Given the description of an element on the screen output the (x, y) to click on. 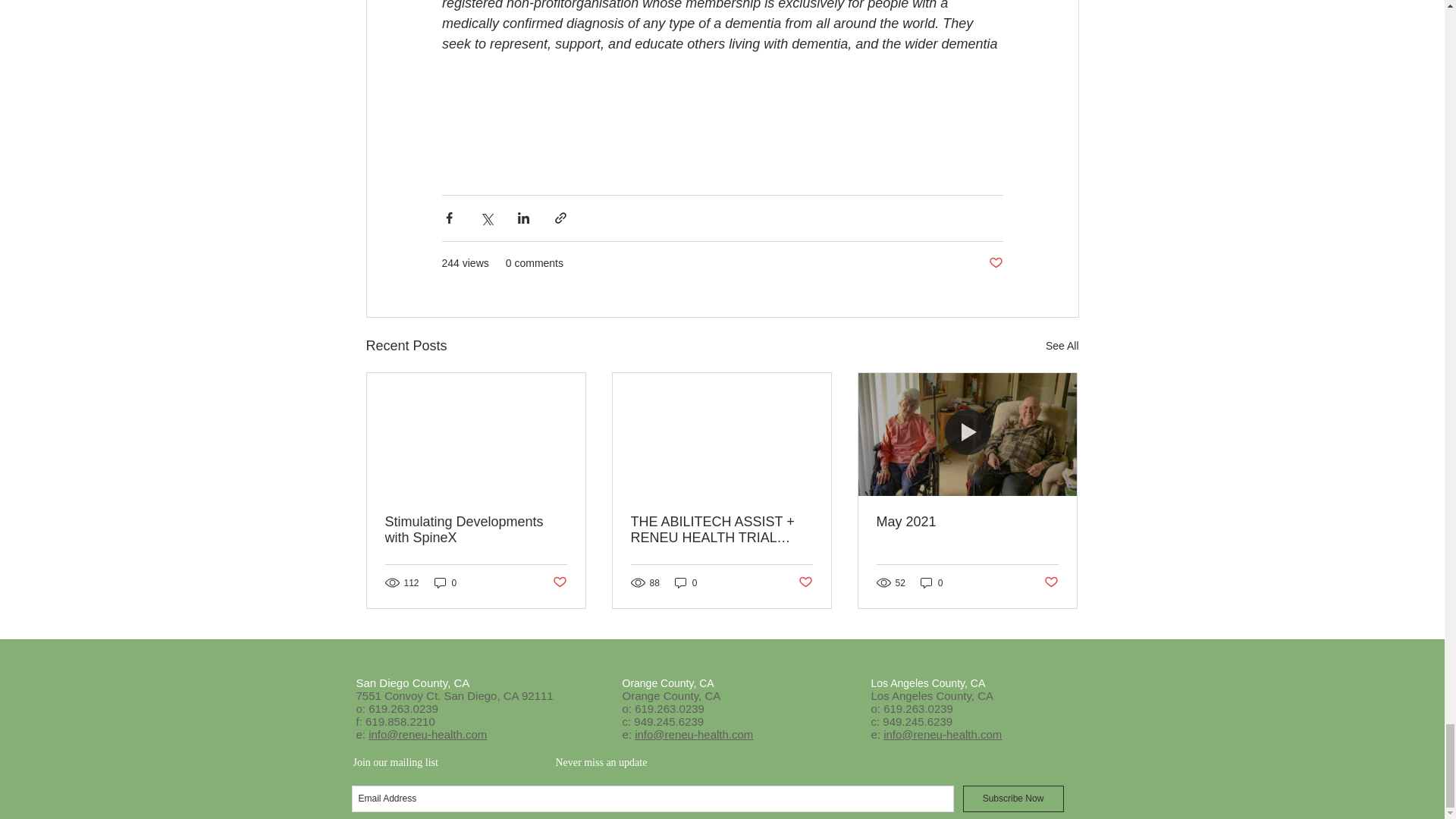
Stimulating Developments with SpineX (476, 530)
0 (445, 582)
See All (1061, 345)
Post not marked as liked (558, 582)
Post not marked as liked (995, 263)
0 (685, 582)
